Given the description of an element on the screen output the (x, y) to click on. 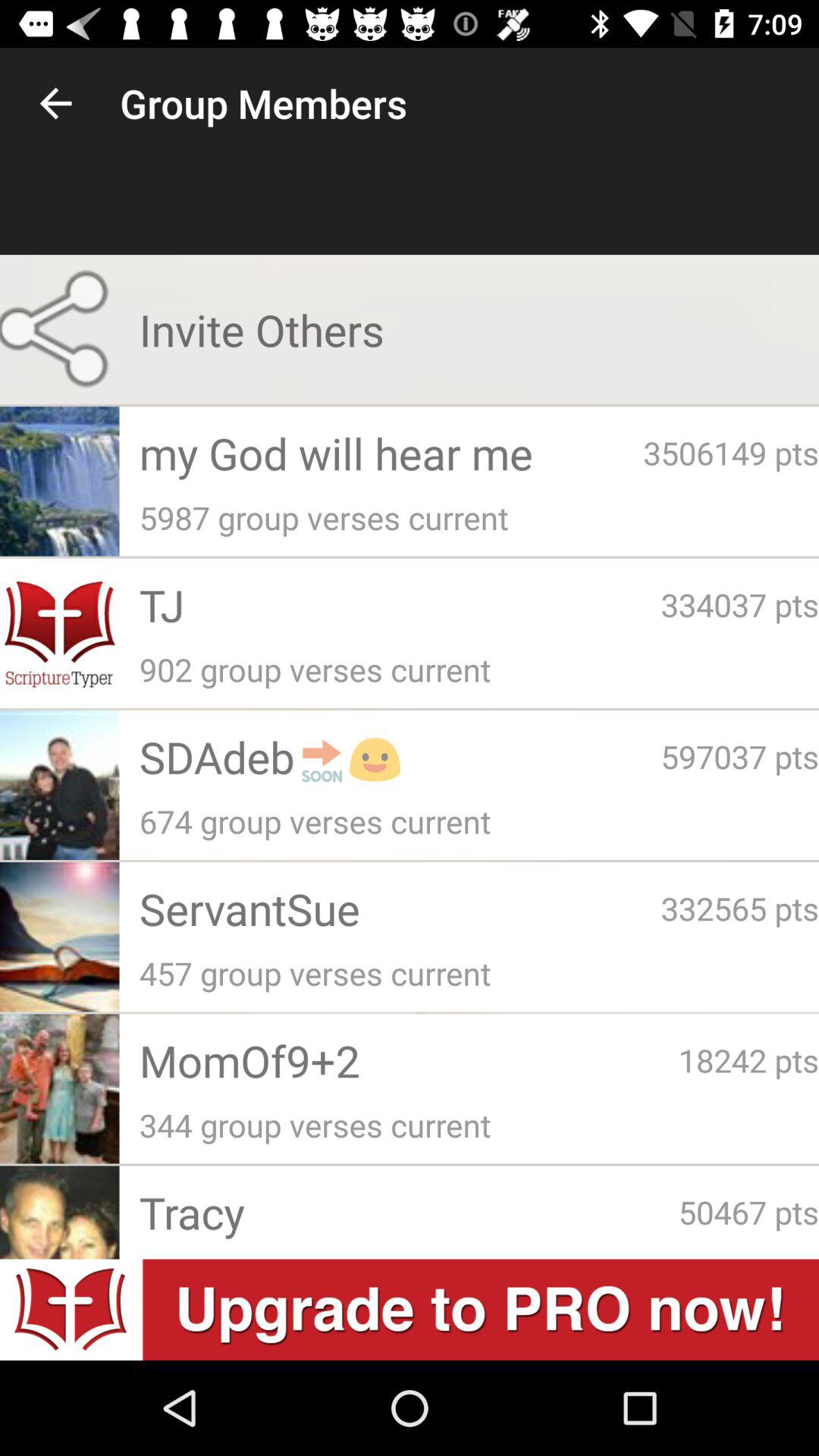
open the app below invite others (731, 452)
